Given the description of an element on the screen output the (x, y) to click on. 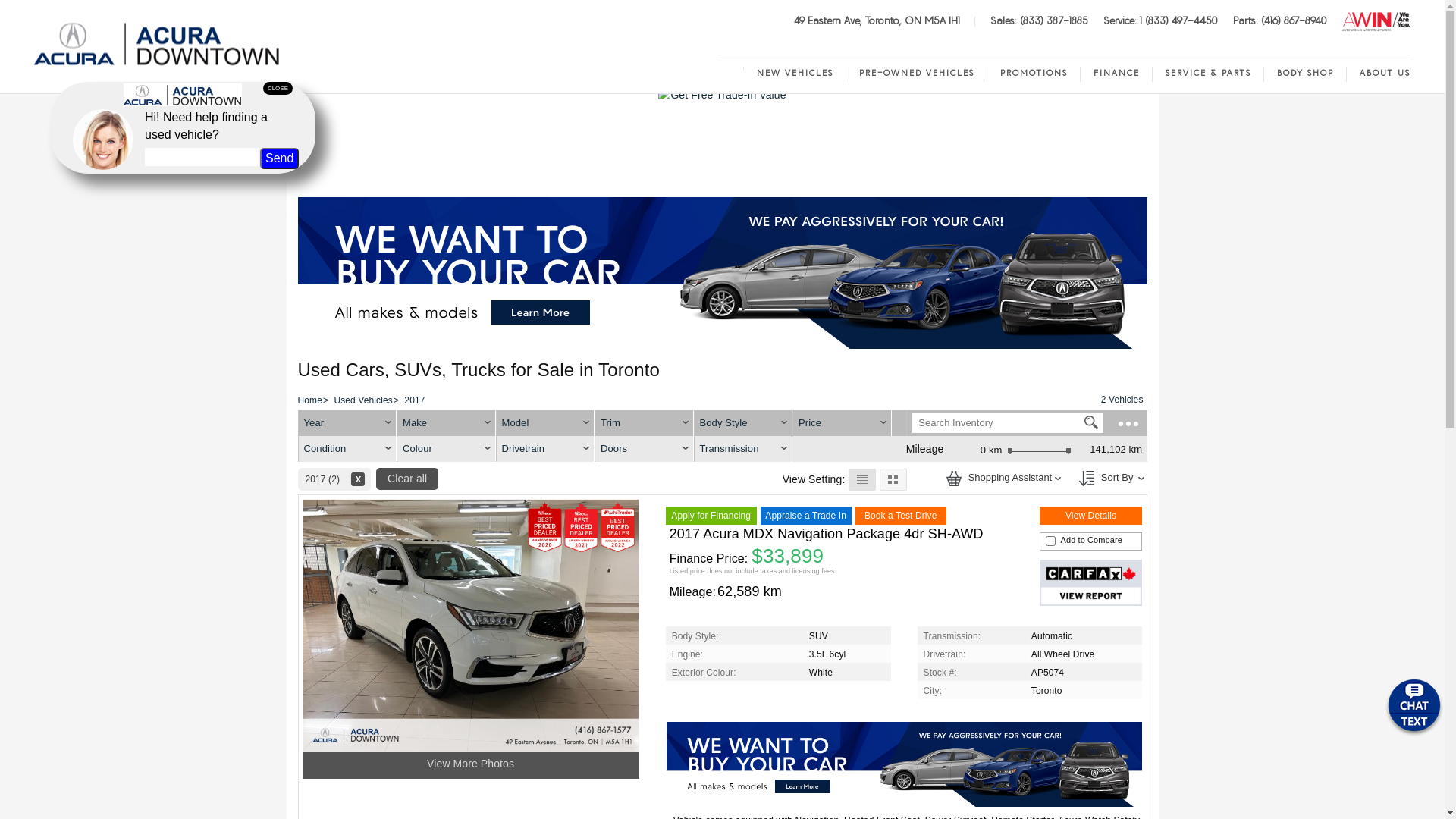
Price Element type: text (809, 422)
2017 Acura MDX Navigation Package 4dr SH-AWD Element type: text (826, 533)
 Acura Downtown Element type: hover (157, 43)
Doors Element type: text (644, 448)
Model Element type: text (544, 423)
View Details Element type: text (1090, 515)
Clear all Element type: text (407, 478)
PROMOTIONS Element type: text (1033, 73)
Search Element type: hover (1090, 421)
View More Photos Element type: text (470, 763)
49 Eastern Ave,
Toronto, ON M5A 1H1 Element type: text (876, 21)
ABOUT US Element type: text (1378, 73)
Appraise a Trade In Element type: text (805, 515)
Colour Element type: text (446, 448)
Home Element type: hover (730, 67)
Body Style Element type: text (743, 423)
Parts: (416) 867-8940 Element type: text (1280, 21)
banner-promotion Element type: hover (721, 272)
Sort By Element type: text (1107, 476)
Shopping Assistant Element type: text (1000, 476)
SERVICE & PARTS Element type: text (1208, 73)
2017 Element type: text (414, 400)
Apply for Financing Element type: text (710, 515)
unchecked Element type: text (1050, 541)
NEW VEHICLES Element type: text (794, 73)
PRE-OWNED VEHICLES Element type: text (916, 73)
Shopping Assistant Element type: hover (953, 478)
Grid View Element type: hover (892, 478)
Drivetrain Element type: text (544, 448)
Service: 1 (833) 497-4450 Element type: text (1160, 21)
FINANCE Element type: text (1116, 73)
Sales: (833) 387-1885 Element type: text (1039, 21)
Year Element type: text (347, 423)
Trim Element type: text (644, 423)
Transmission Element type: text (743, 448)
Home Element type: text (309, 400)
BODY SHOP Element type: text (1305, 73)
Condition Element type: text (347, 448)
Book a Test Drive Element type: text (900, 515)
Listing View Element type: hover (861, 478)
Used Vehicles Element type: text (362, 400)
Make Element type: text (446, 423)
Sort By Element type: hover (1086, 478)
